Given the description of an element on the screen output the (x, y) to click on. 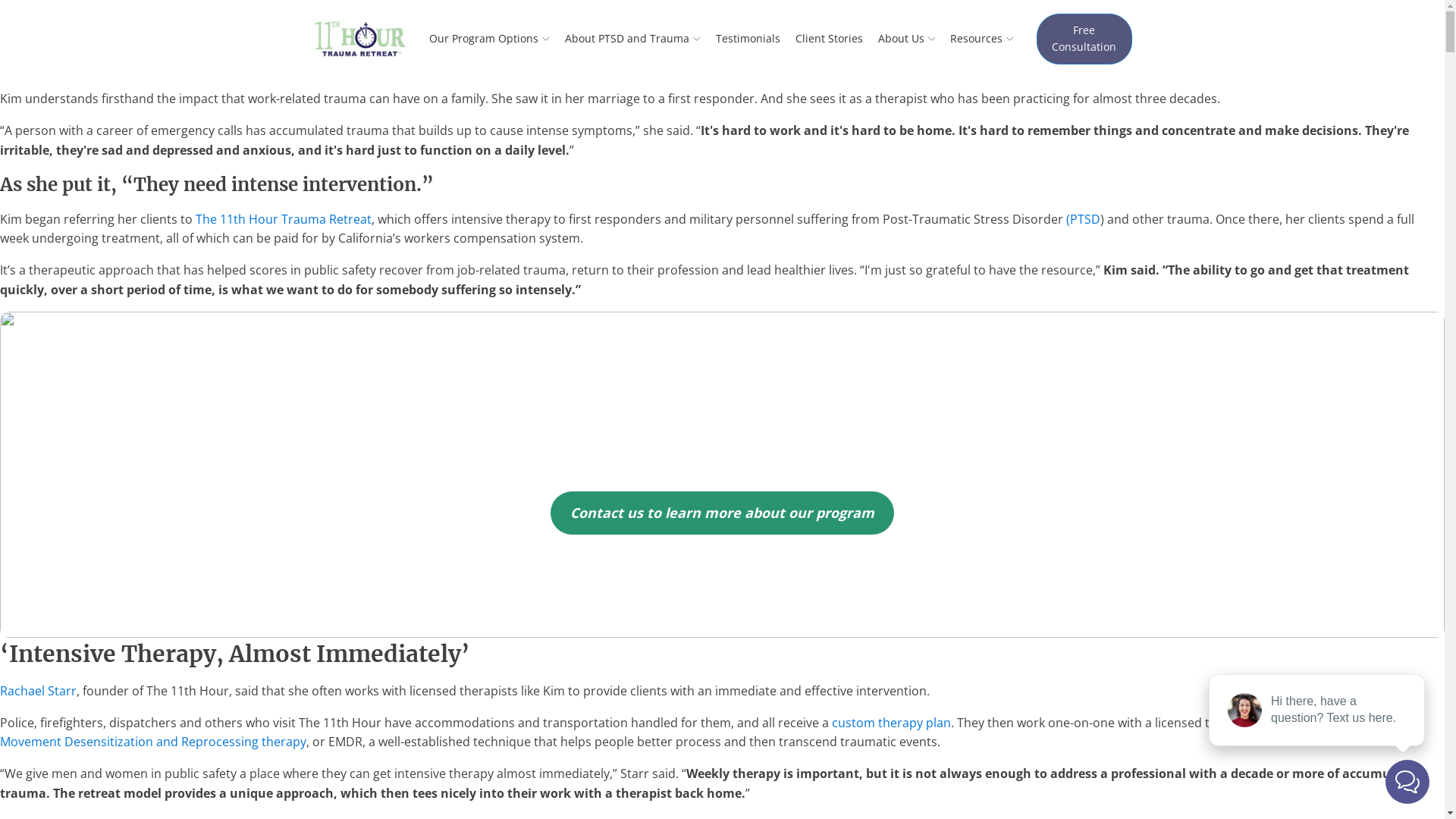
About Us Element type: text (906, 38)
custom therapy plan Element type: text (890, 722)
The 11th Hour Trauma Retreat Element type: text (283, 218)
(PTSD Element type: text (1083, 218)
Free Consultation Element type: text (1083, 38)
Rachael Starr Element type: text (38, 690)
Eye Movement Desensitization and Reprocessing therapy Element type: text (694, 732)
Contact us to learn more about our program Element type: text (722, 512)
Testimonials Element type: text (747, 38)
Resources Element type: text (981, 38)
Client Stories Element type: text (828, 38)
Our Program Options Element type: text (489, 38)
About PTSD and Trauma Element type: text (632, 38)
